Given the description of an element on the screen output the (x, y) to click on. 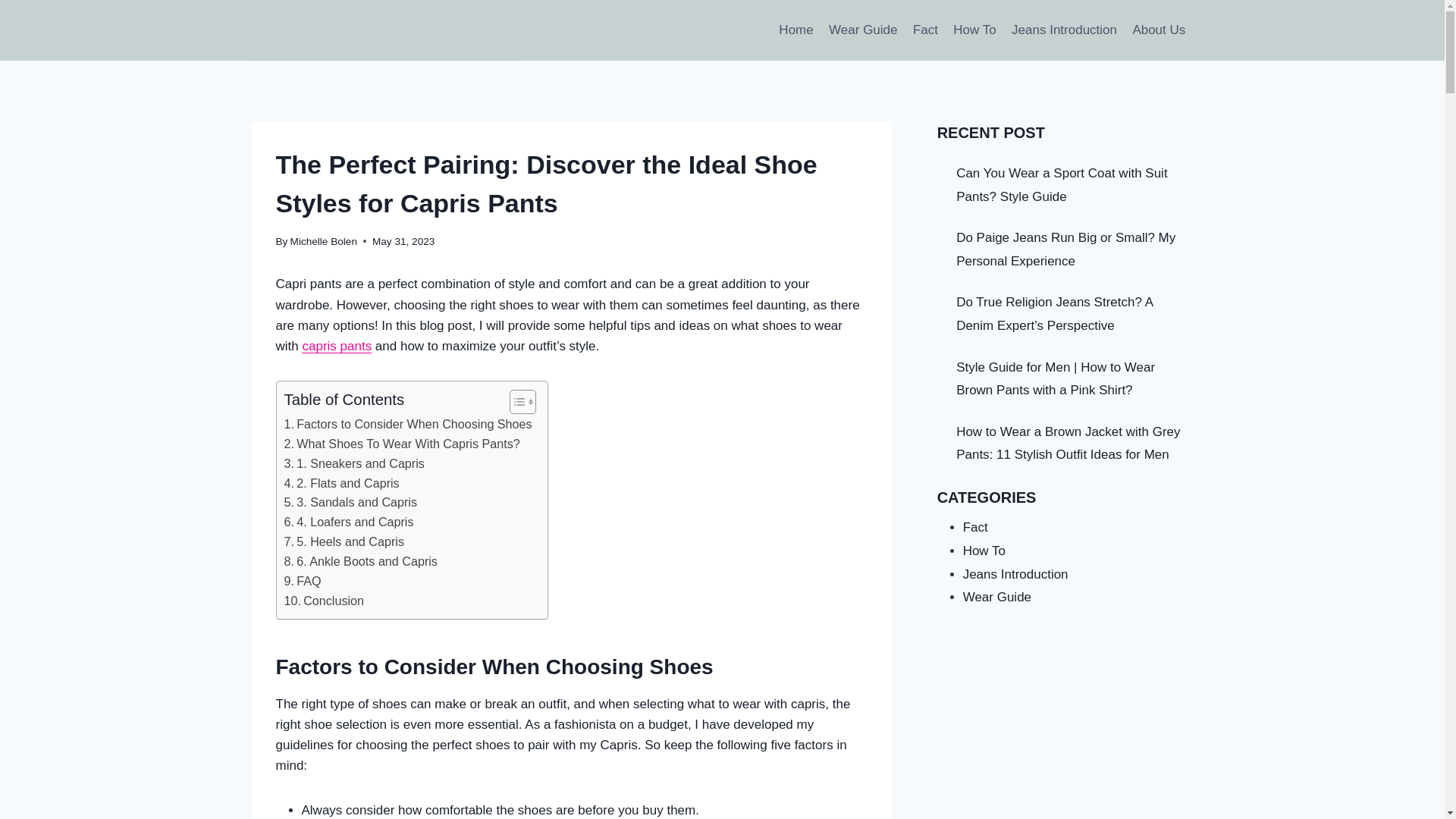
4. Loafers and Capris (348, 522)
2. Flats and Capris (340, 483)
Fact (924, 30)
FAQ (301, 581)
Conclusion (323, 600)
FAQ (301, 581)
capris pants (336, 345)
2. Flats and Capris (340, 483)
Wear Guide (863, 30)
5. Heels and Capris (343, 542)
